Given the description of an element on the screen output the (x, y) to click on. 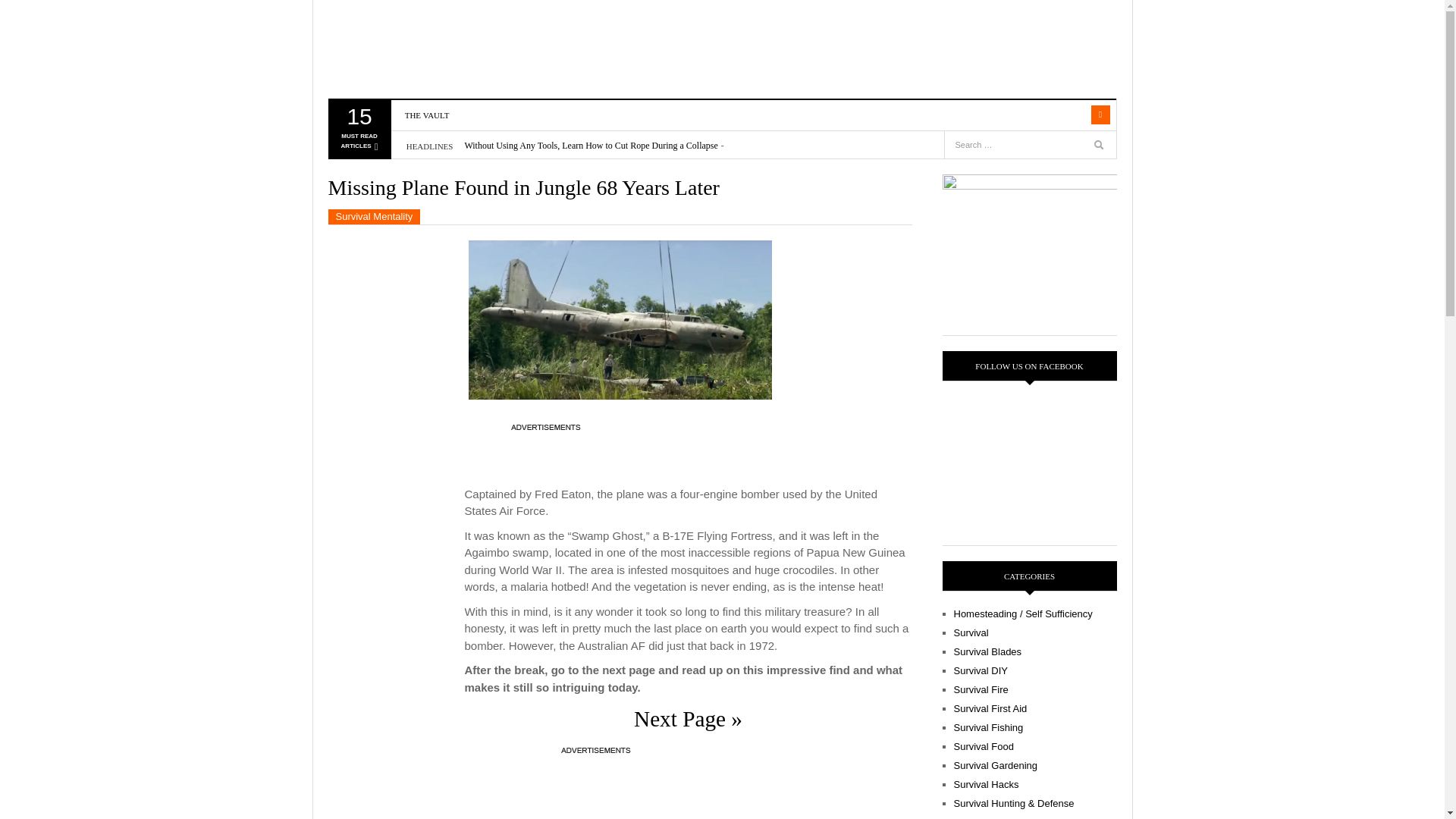
Search (1100, 146)
Die Hard Survivor (414, 49)
THE VAULT (358, 132)
Search (427, 114)
Die Hard Survivor (1070, 115)
